Given the description of an element on the screen output the (x, y) to click on. 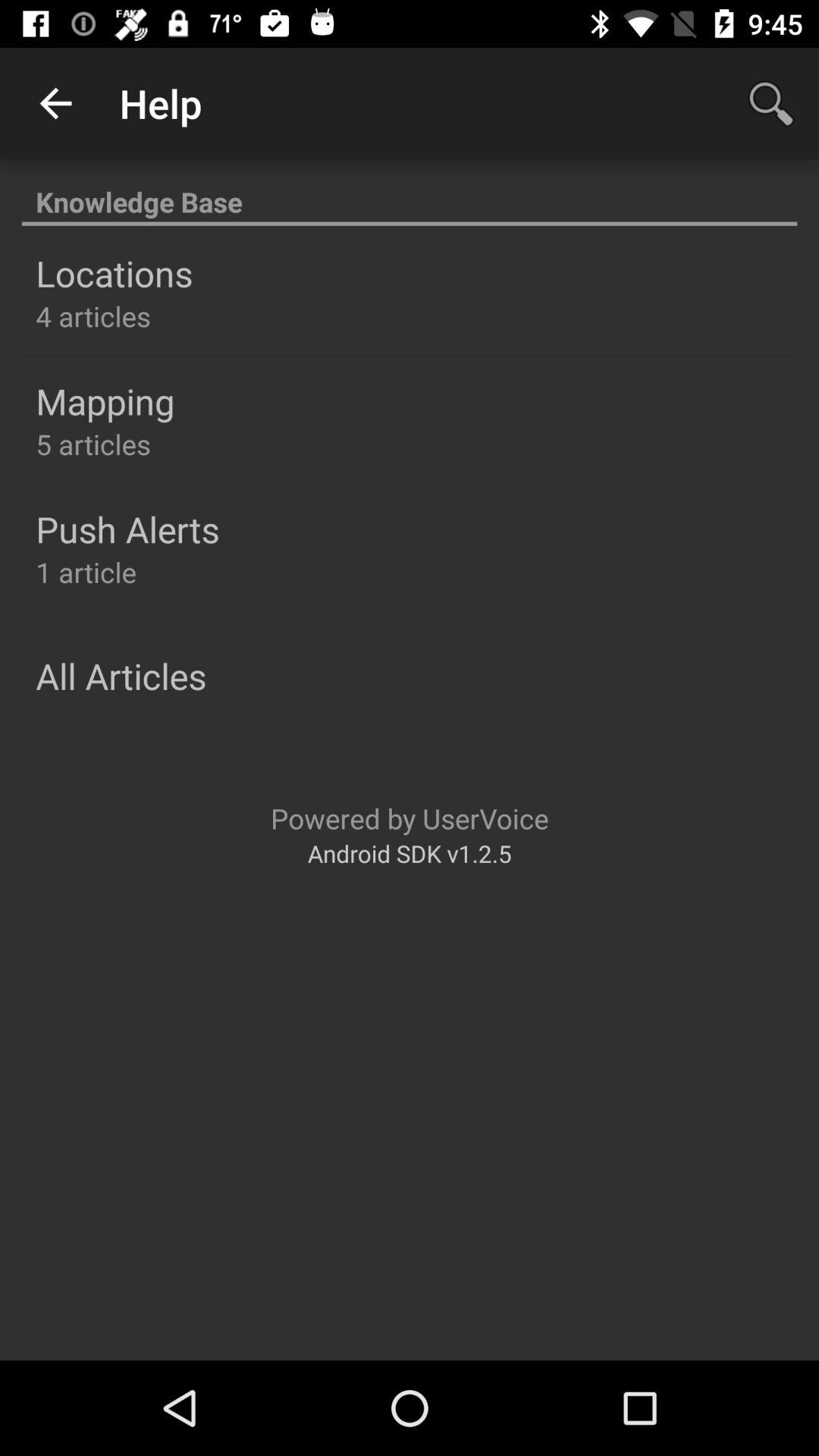
swipe to knowledge base item (409, 193)
